Given the description of an element on the screen output the (x, y) to click on. 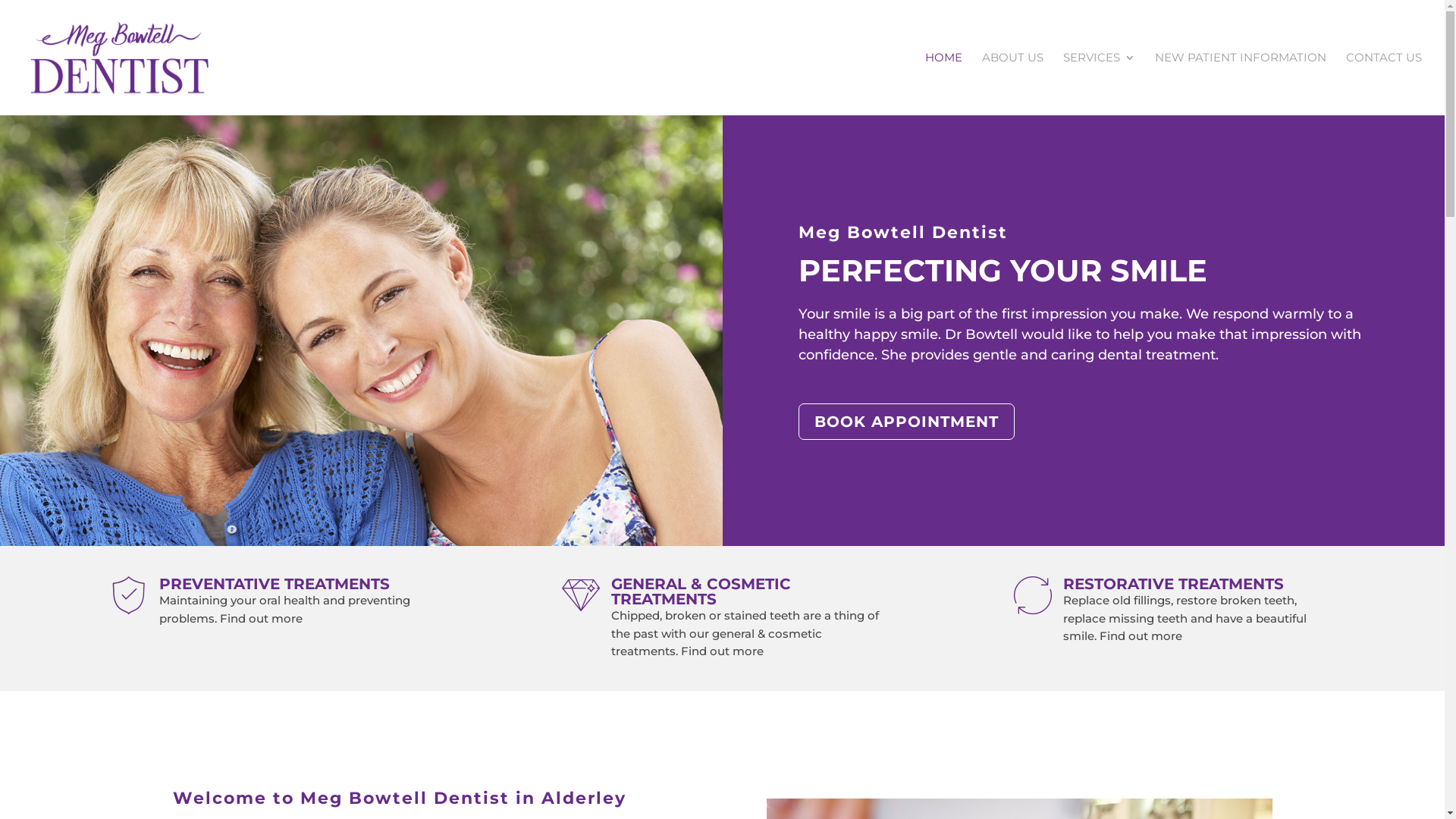
GENERAL & COSMETIC TREATMENTS Element type: text (700, 591)
CONTACT US Element type: text (1383, 83)
RESTORATIVE TREATMENTS Element type: text (1173, 583)
BOOK APPOINTMENT Element type: text (905, 421)
NEW PATIENT INFORMATION Element type: text (1240, 83)
PREVENTATIVE TREATMENTS Element type: text (274, 583)
ABOUT US Element type: text (1012, 83)
HOME Element type: text (943, 83)
SERVICES Element type: text (1099, 83)
